Given the description of an element on the screen output the (x, y) to click on. 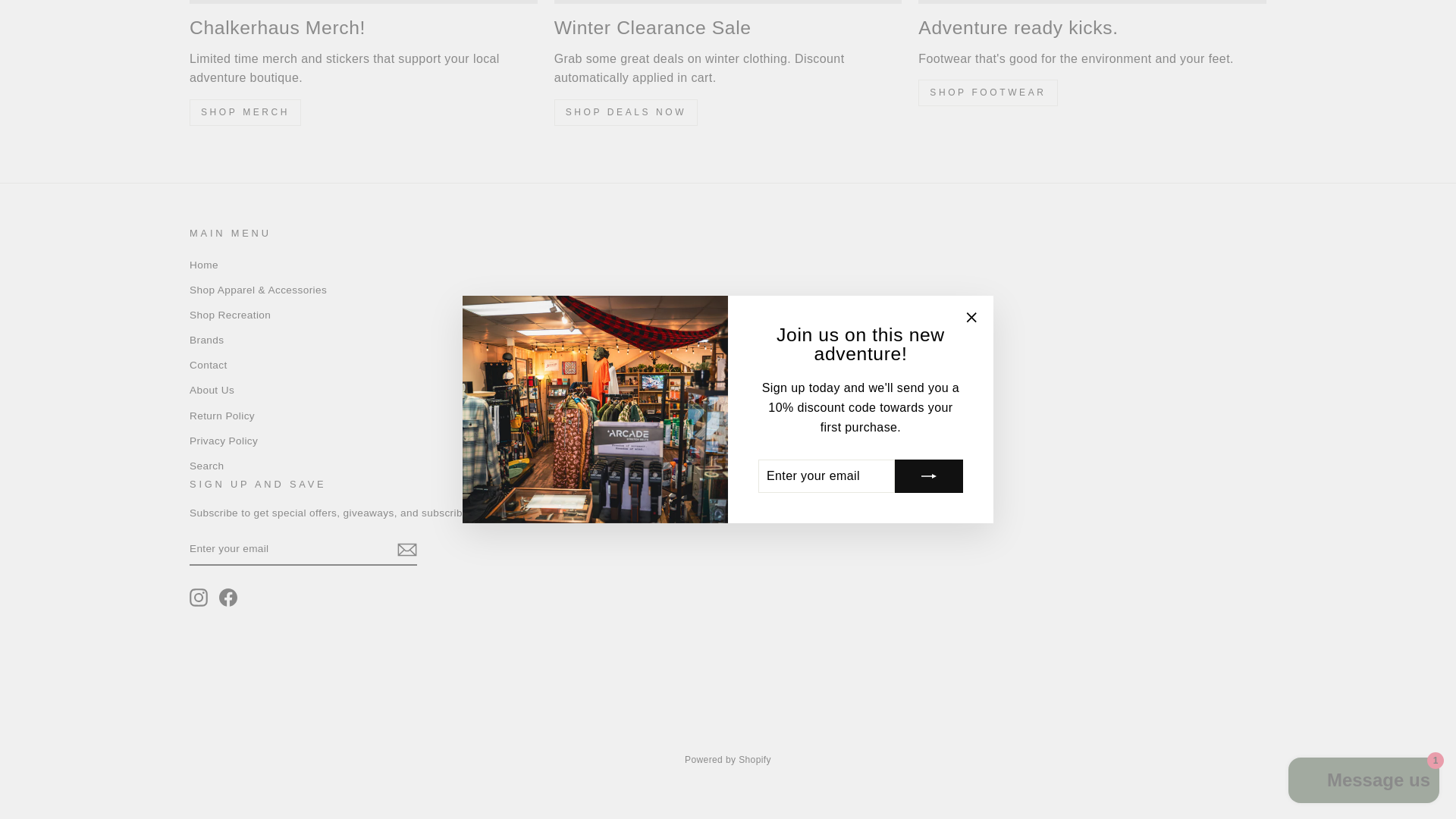
icon-email (406, 549)
Chalkerhaus Adventure Co. on Instagram (198, 597)
instagram (198, 597)
